Given the description of an element on the screen output the (x, y) to click on. 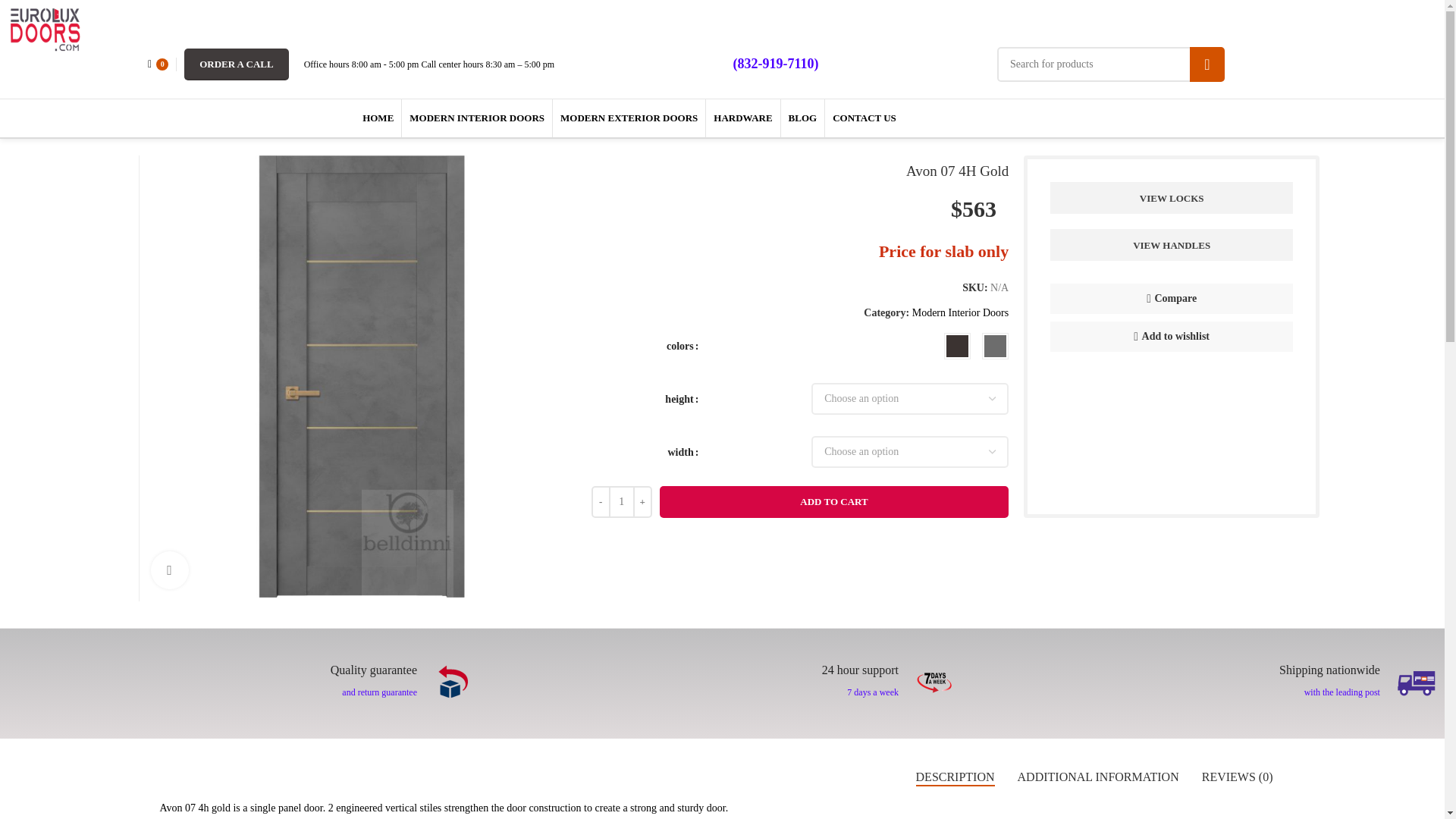
1 (1415, 683)
Home (155, 131)
ADD TO CART (834, 501)
SEARCH (1206, 63)
Add to wishlist (1170, 336)
0 (157, 64)
MODERN INTERIOR DOORS (476, 118)
ADDITIONAL INFORMATION (1098, 776)
VIEW HANDLES (1170, 245)
Compare (1170, 298)
Dark Urban (995, 345)
Modern Interior Doors (960, 312)
Shopping cart (157, 64)
DESCRIPTION (954, 776)
VIEW LOCKS (1170, 197)
